Given the description of an element on the screen output the (x, y) to click on. 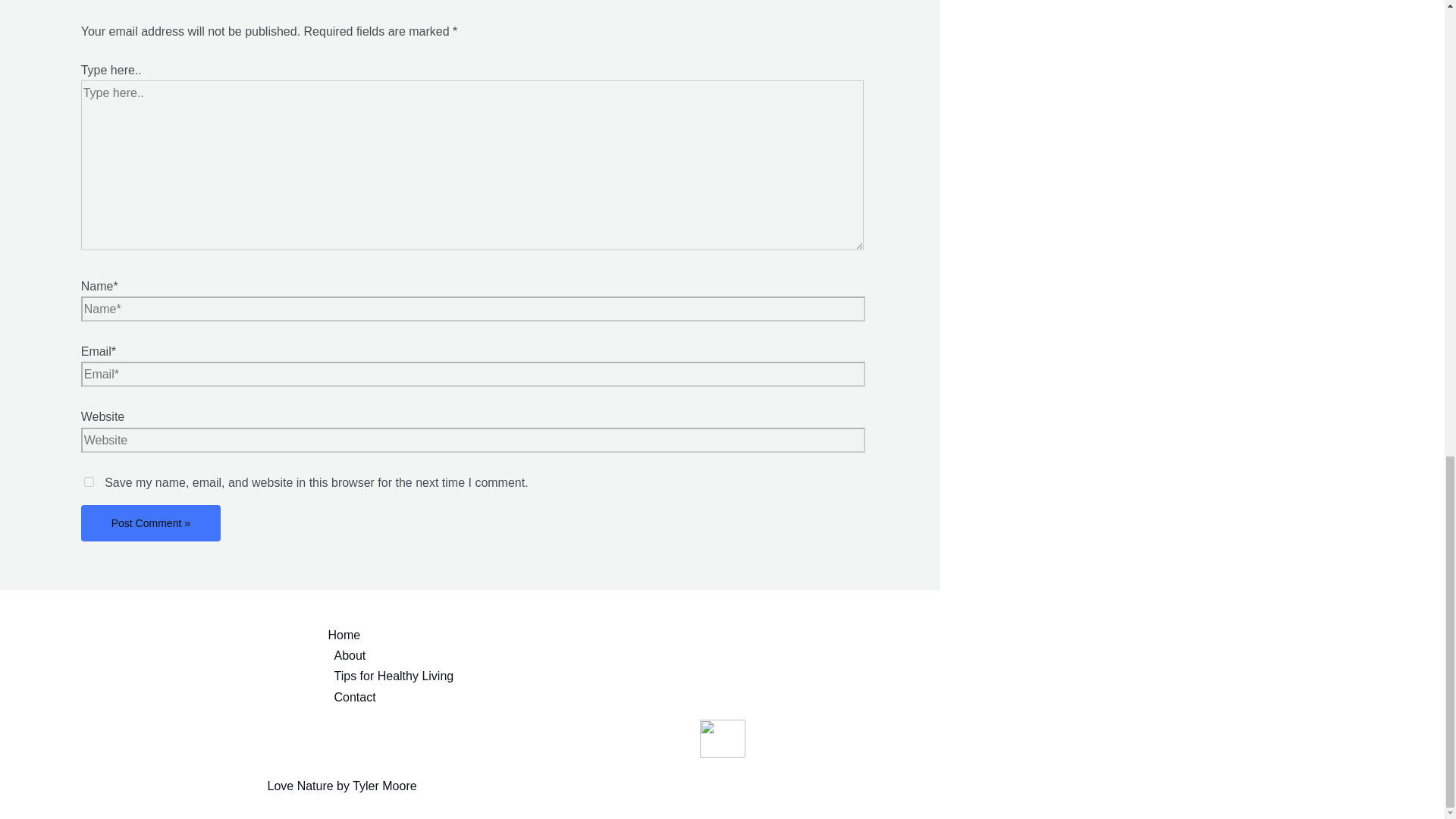
About (751, 655)
Home (751, 634)
Contact (751, 697)
Tips for Healthy Living (751, 675)
yes (89, 481)
